Given the description of an element on the screen output the (x, y) to click on. 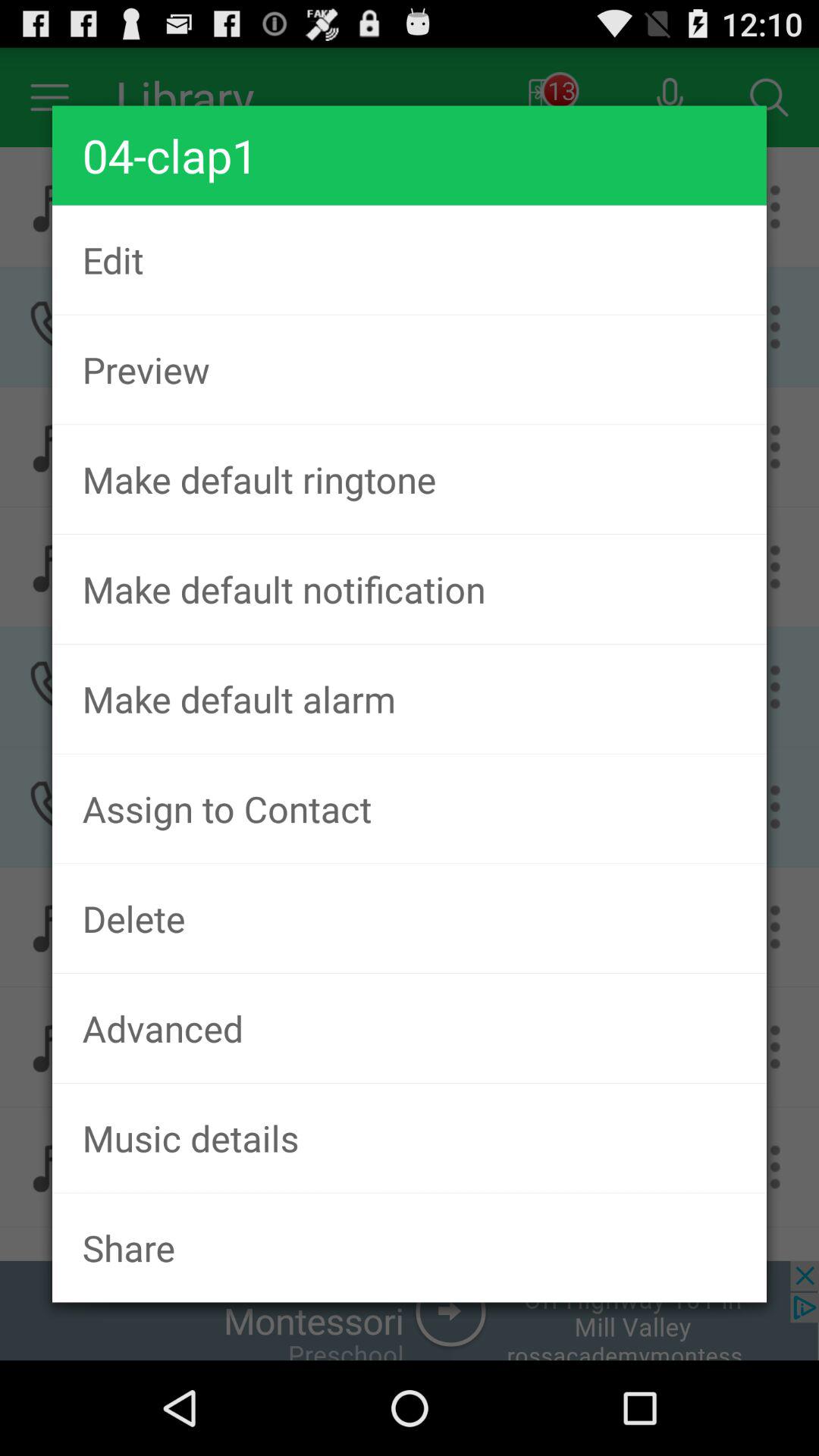
scroll to share item (409, 1247)
